Given the description of an element on the screen output the (x, y) to click on. 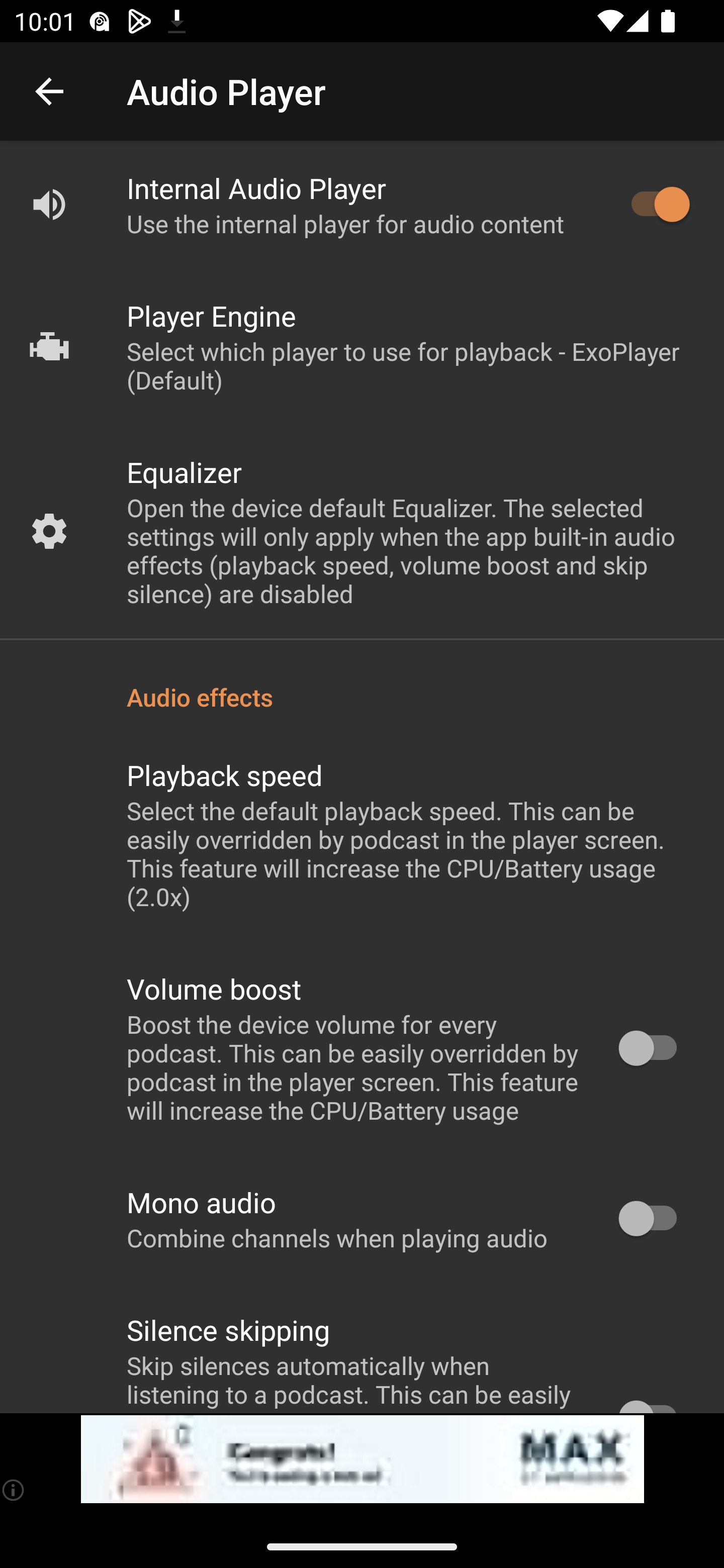
Navigate up (49, 91)
Mono audio Combine channels when playing audio (362, 1218)
app-monetization (362, 1459)
(i) (14, 1489)
